Given the description of an element on the screen output the (x, y) to click on. 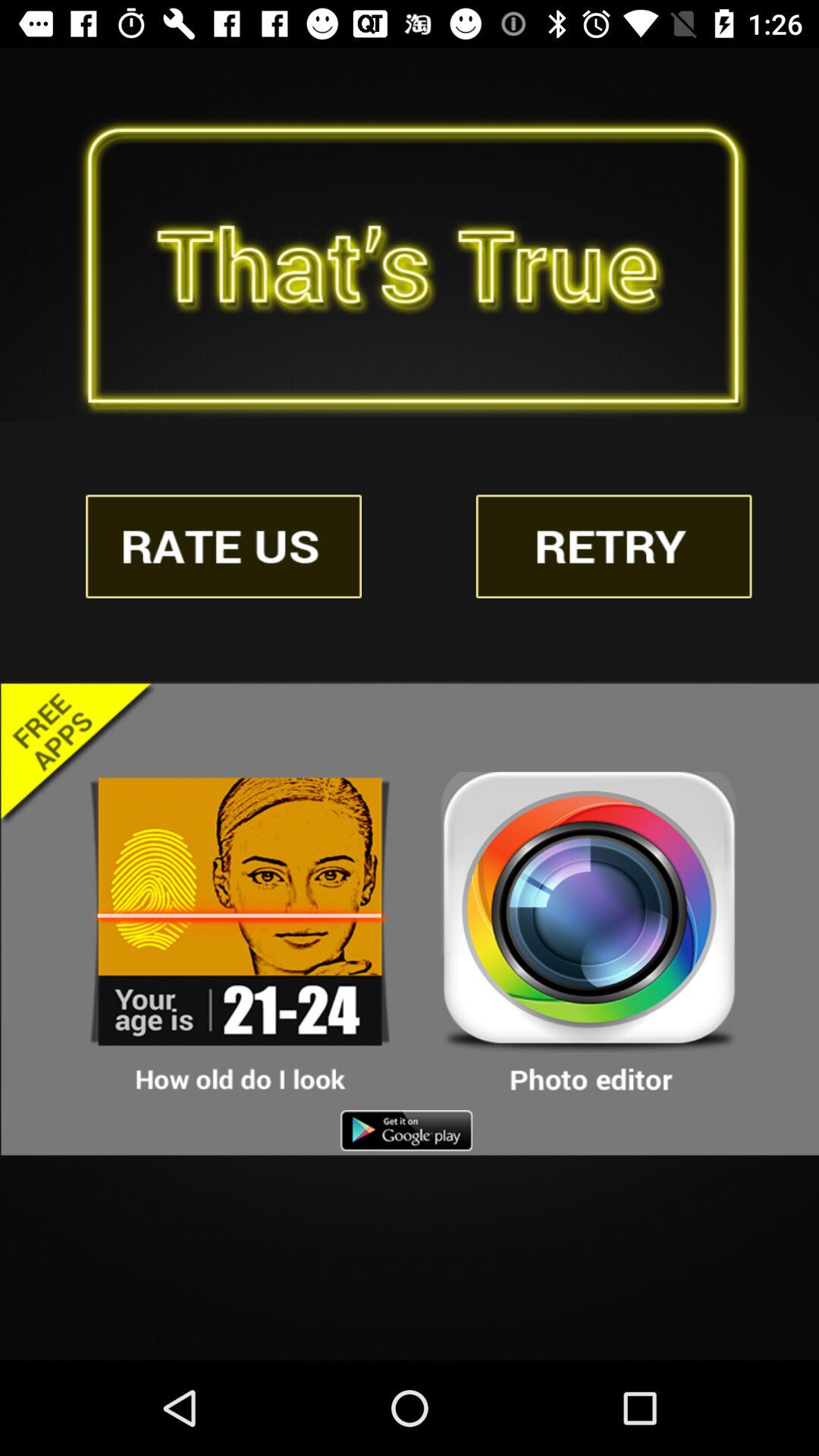
highlights the rateus option (223, 546)
